Given the description of an element on the screen output the (x, y) to click on. 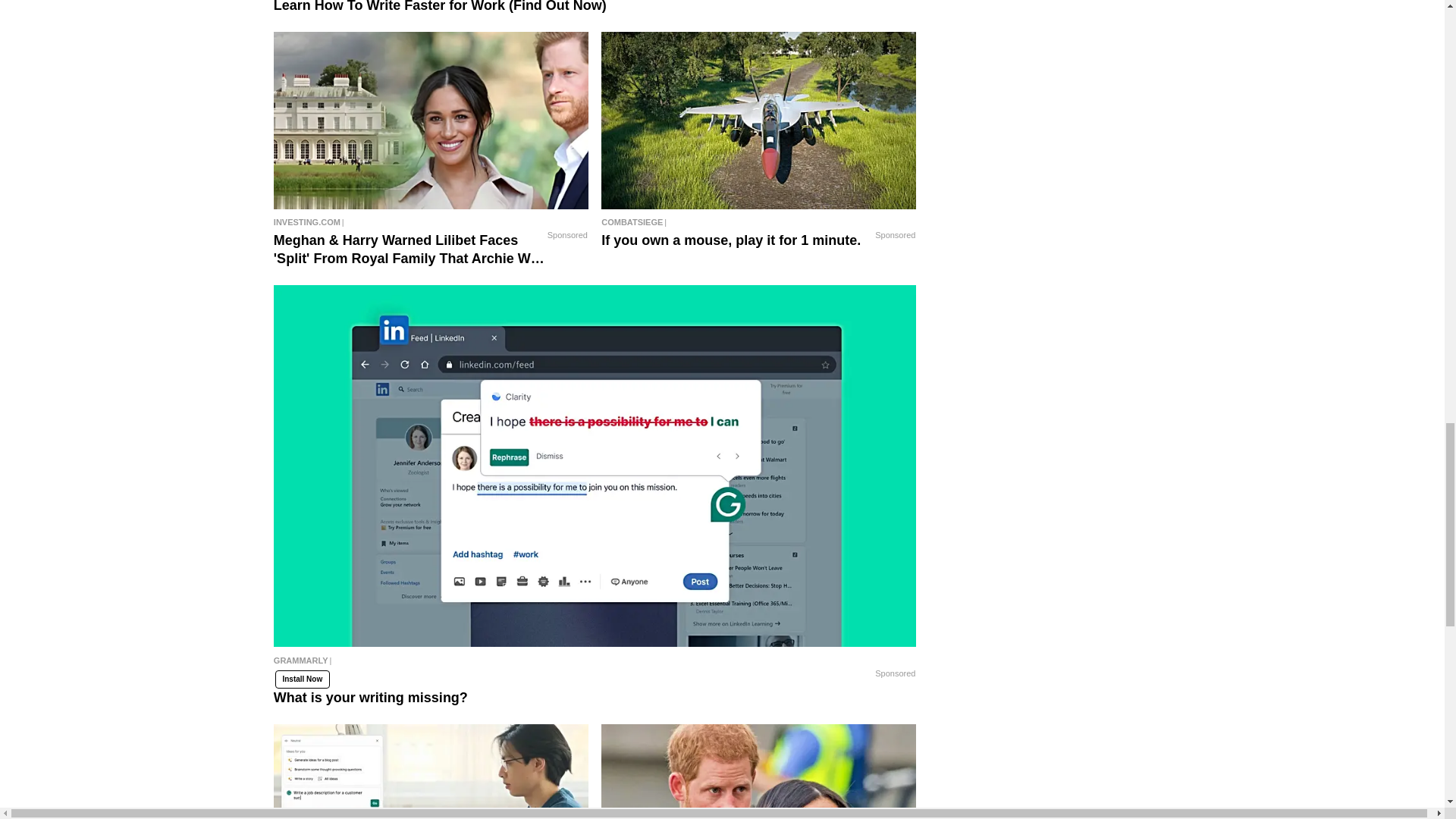
What is your writing missing? (595, 664)
If you own a mouse, play it for 1 minute. (758, 221)
